Given the description of an element on the screen output the (x, y) to click on. 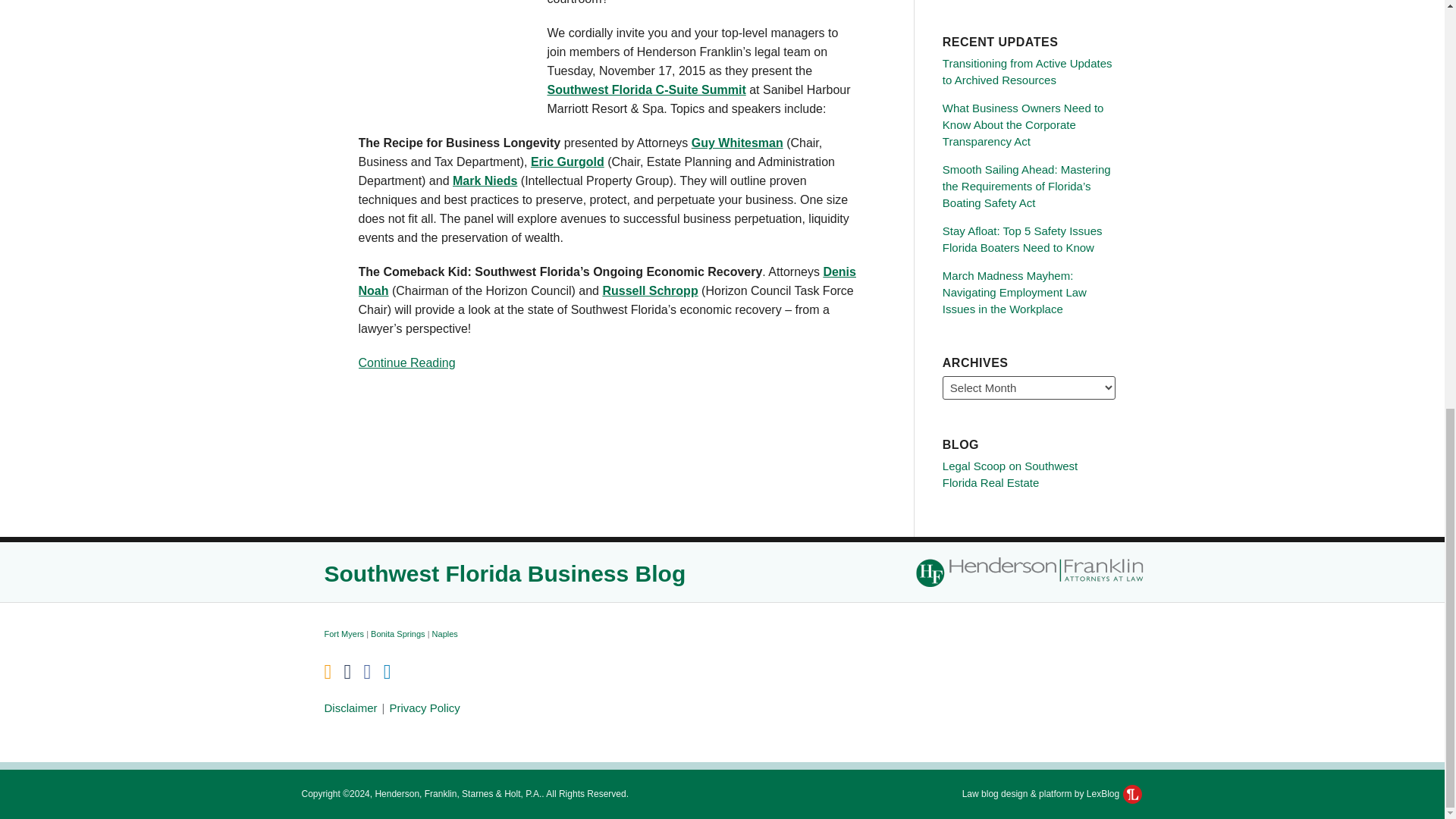
Transitioning from Active Updates to Archived Resources (1027, 71)
Legal Scoop on Southwest Florida Real Estate (1009, 473)
Mark Nieds (484, 180)
Southwest Florida Business Blog (504, 572)
Russell Schropp (649, 290)
Guy Whitesman (737, 142)
Southwest Florida C-Suite Summit (646, 89)
LexBlog Logo (1131, 793)
Eric Gurgold (567, 161)
